Given the description of an element on the screen output the (x, y) to click on. 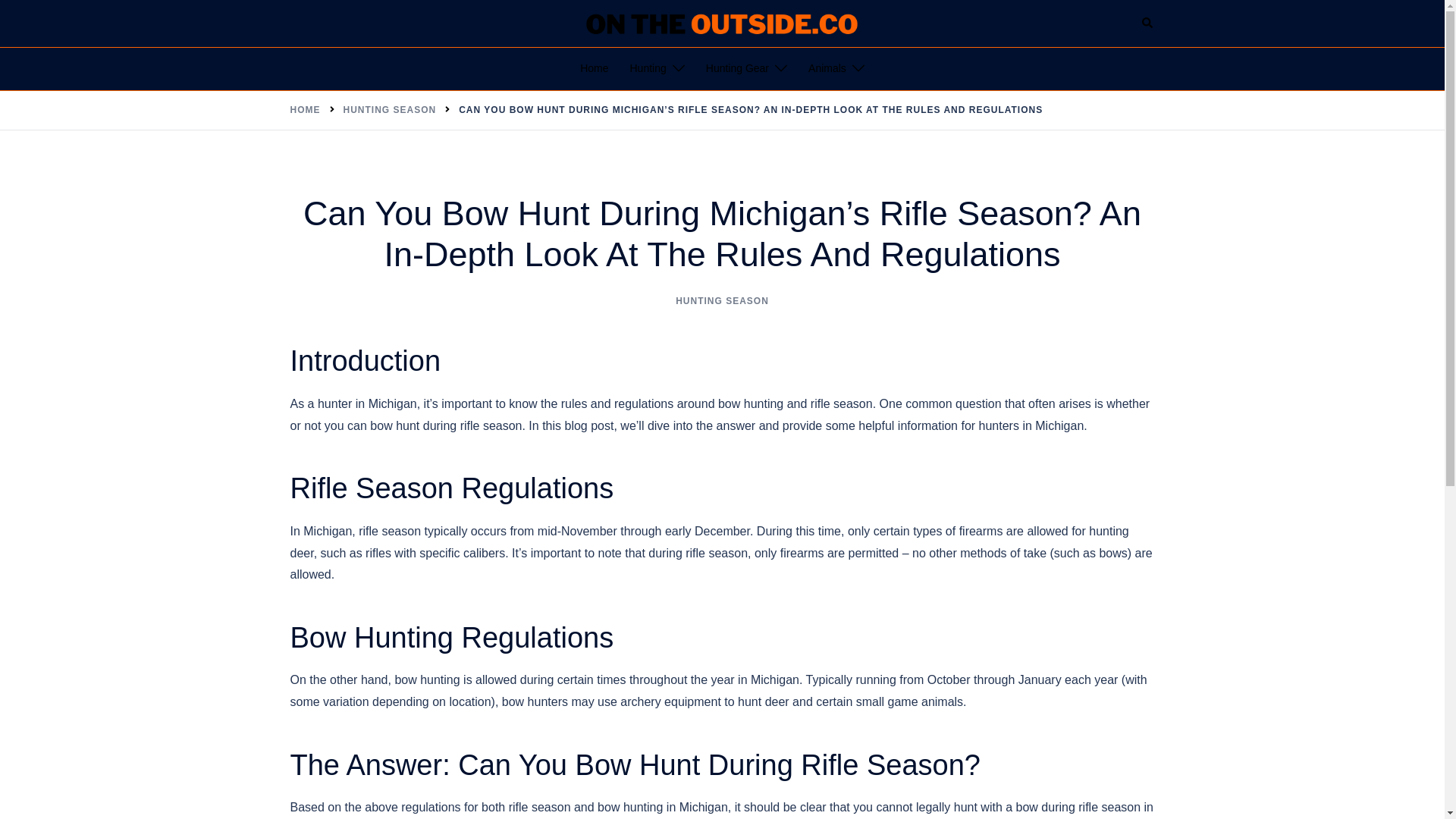
OnTheOutside.Co (722, 21)
Home (593, 67)
Hunting Gear (737, 67)
Animals (826, 67)
Search (1147, 23)
Hunting (646, 67)
